Given the description of an element on the screen output the (x, y) to click on. 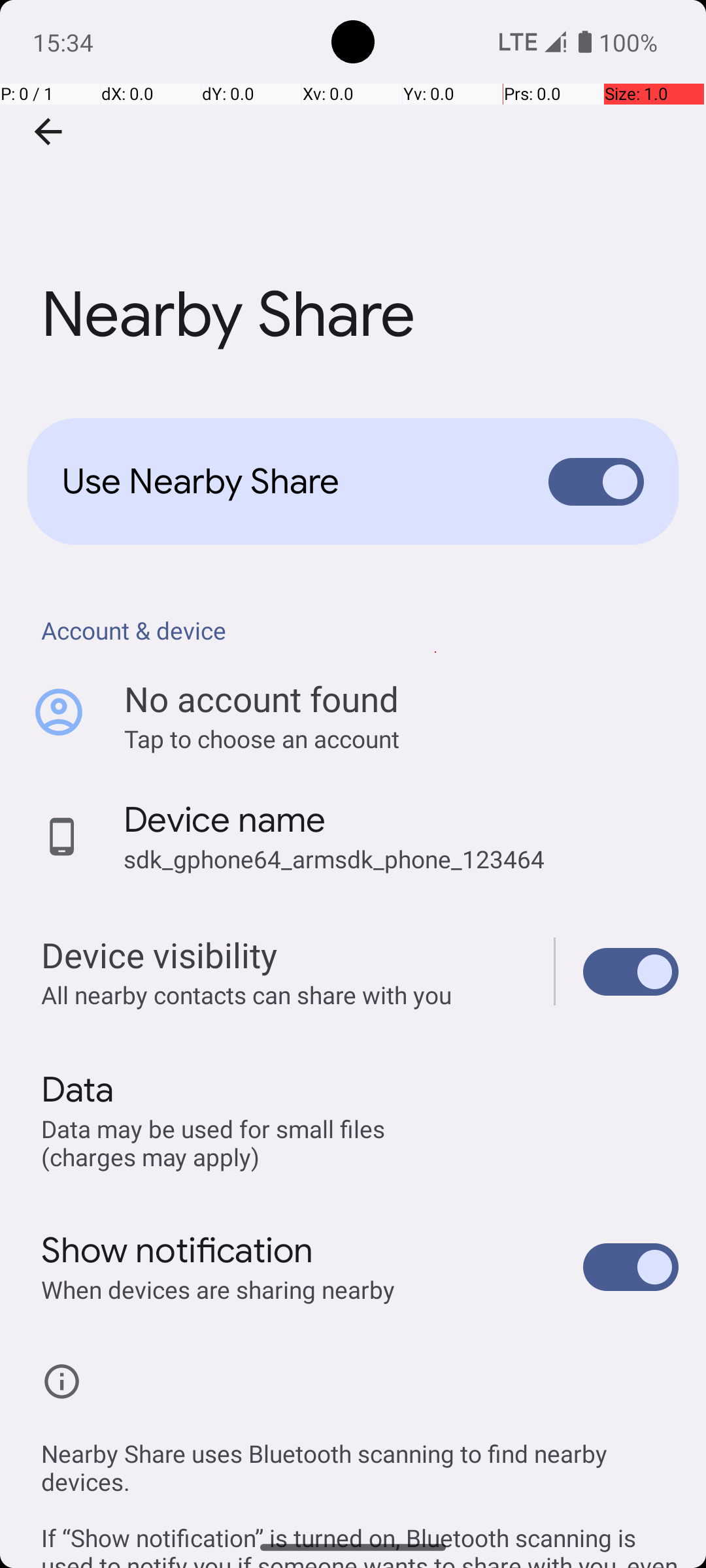
Nearby Share Element type: android.widget.FrameLayout (353, 195)
Use Nearby Share Element type: android.widget.TextView (284, 481)
Account & device Element type: android.widget.TextView (359, 629)
No account found Element type: android.widget.TextView (261, 698)
Tap to choose an account Element type: android.widget.TextView (401, 738)
Device name Element type: android.widget.TextView (224, 819)
sdk_gphone64_armsdk_phone_123464 Element type: android.widget.TextView (333, 858)
Device visibility Element type: android.widget.Switch (630, 971)
Data Element type: android.widget.TextView (77, 1089)
Data may be used for small files 
(charges may apply) Element type: android.widget.TextView (215, 1142)
Show notification Element type: android.widget.TextView (177, 1250)
When devices are sharing nearby Element type: android.widget.TextView (218, 1289)
Nearby Share uses Bluetooth scanning to find nearby devices. 

If “Show notification” is turned on, Bluetooth scanning is used to notify you if someone wants to share with you, even when Nearby Share is turned off. Element type: android.widget.TextView (359, 1488)
All nearby contacts can share with you Element type: android.widget.TextView (283, 994)
